Given the description of an element on the screen output the (x, y) to click on. 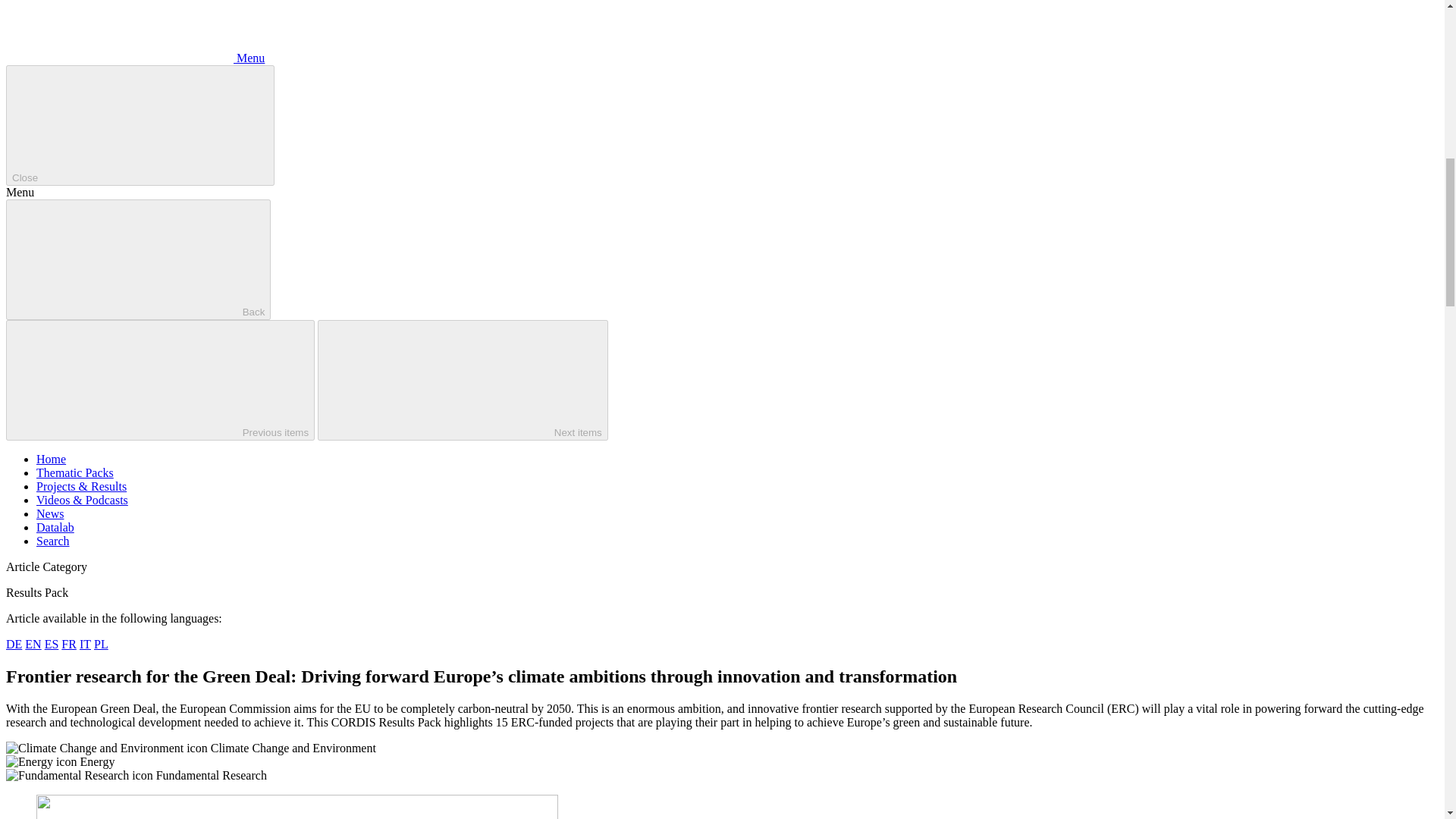
Close (140, 125)
Home (50, 459)
Back (137, 259)
Thematic Packs (74, 472)
PL (100, 644)
Search (52, 540)
EN (32, 644)
Datalab (55, 526)
News (50, 513)
Previous items (159, 380)
